Given the description of an element on the screen output the (x, y) to click on. 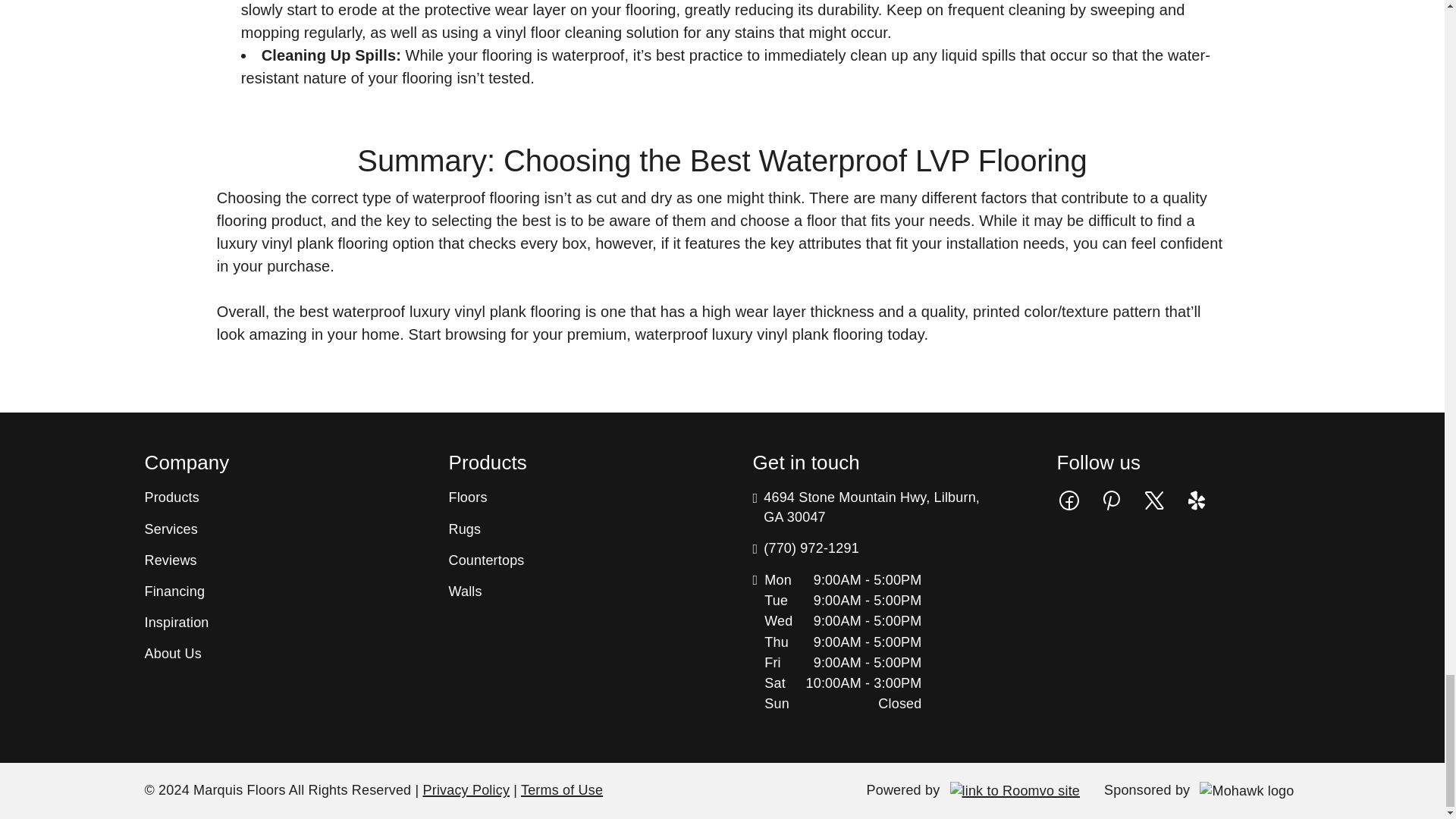
Marquis Floors on Yelp (1196, 499)
Marquis Floors on Pinterest (1111, 499)
Marquis Floors on Twitter (1153, 499)
Marquis Floors on Facebook (1069, 499)
